Given the description of an element on the screen output the (x, y) to click on. 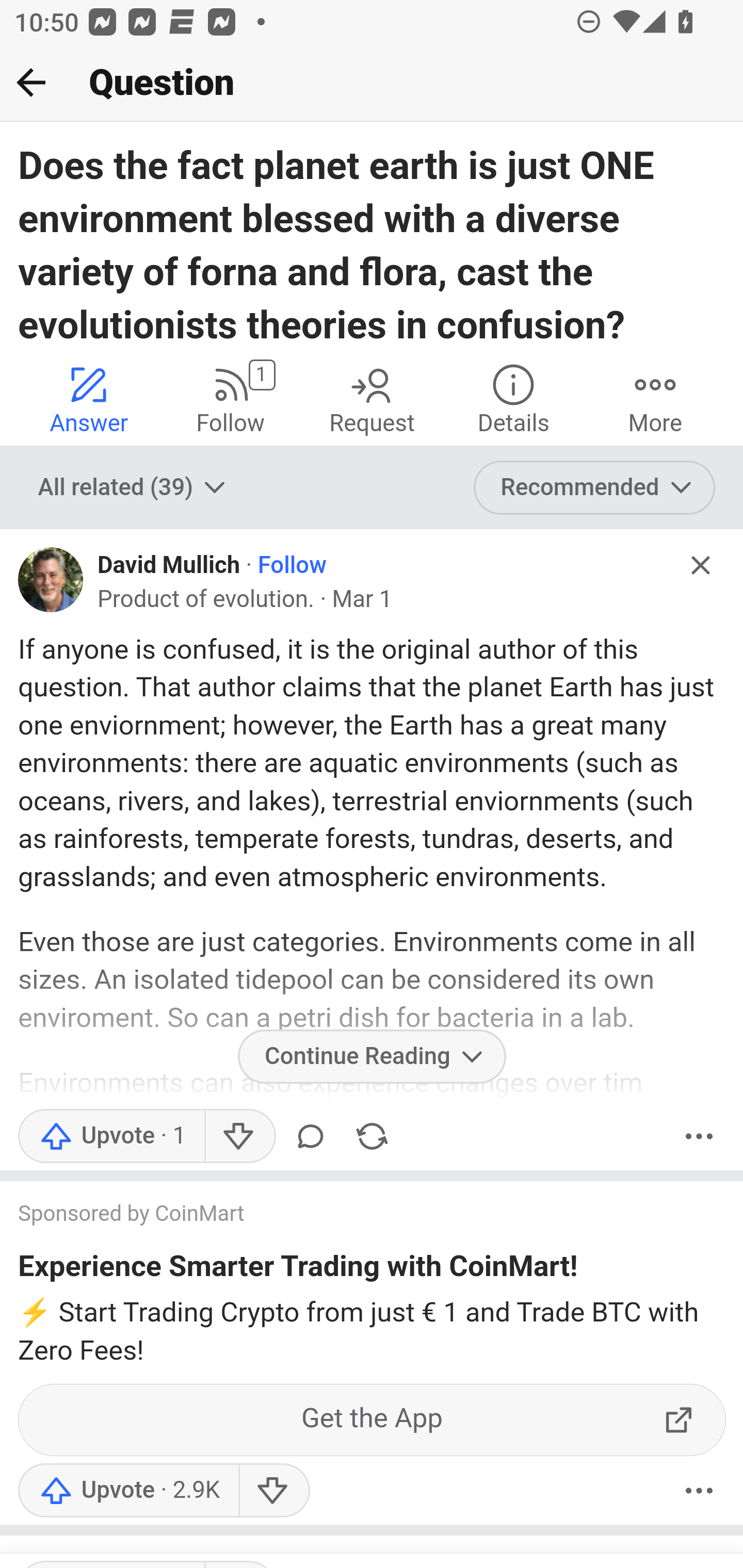
Back (30, 82)
Answer (88, 398)
1 Follow (230, 398)
Request (371, 398)
Details (513, 398)
More (655, 398)
All related (39) (133, 487)
Recommended (594, 487)
Hide (700, 564)
Profile photo for David Mullich (50, 579)
David Mullich (169, 565)
Follow (291, 565)
Continue Reading (371, 1056)
Upvote (111, 1136)
Downvote (238, 1136)
Comment (310, 1136)
Share (372, 1136)
More (699, 1136)
Sponsored by CoinMart (352, 1215)
Experience Smarter Trading with CoinMart! (297, 1269)
Get the App ExternalLink (372, 1420)
Upvote (127, 1490)
Downvote (273, 1490)
More (699, 1490)
